Given the description of an element on the screen output the (x, y) to click on. 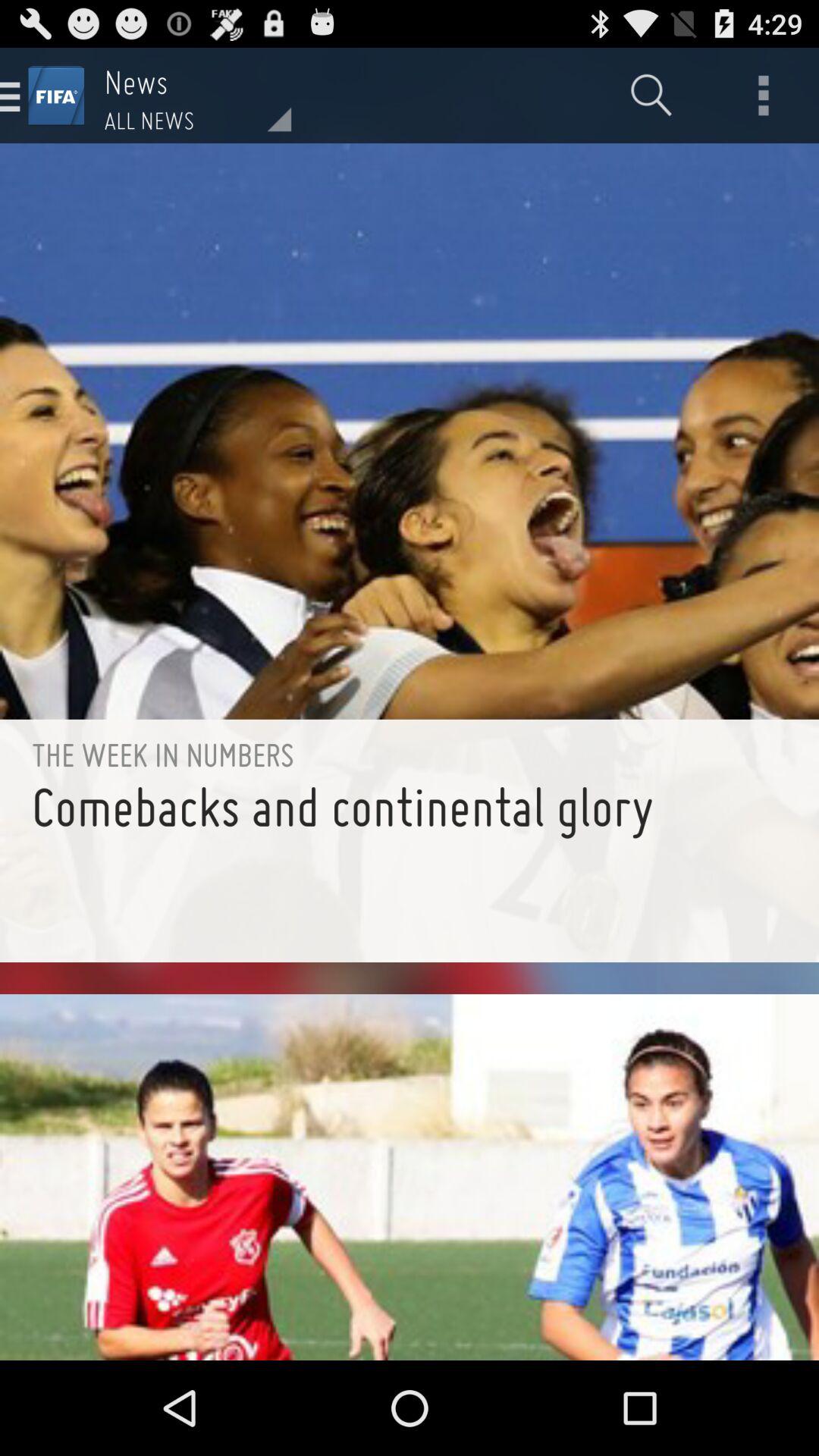
turn on comebacks and continental item (409, 868)
